Given the description of an element on the screen output the (x, y) to click on. 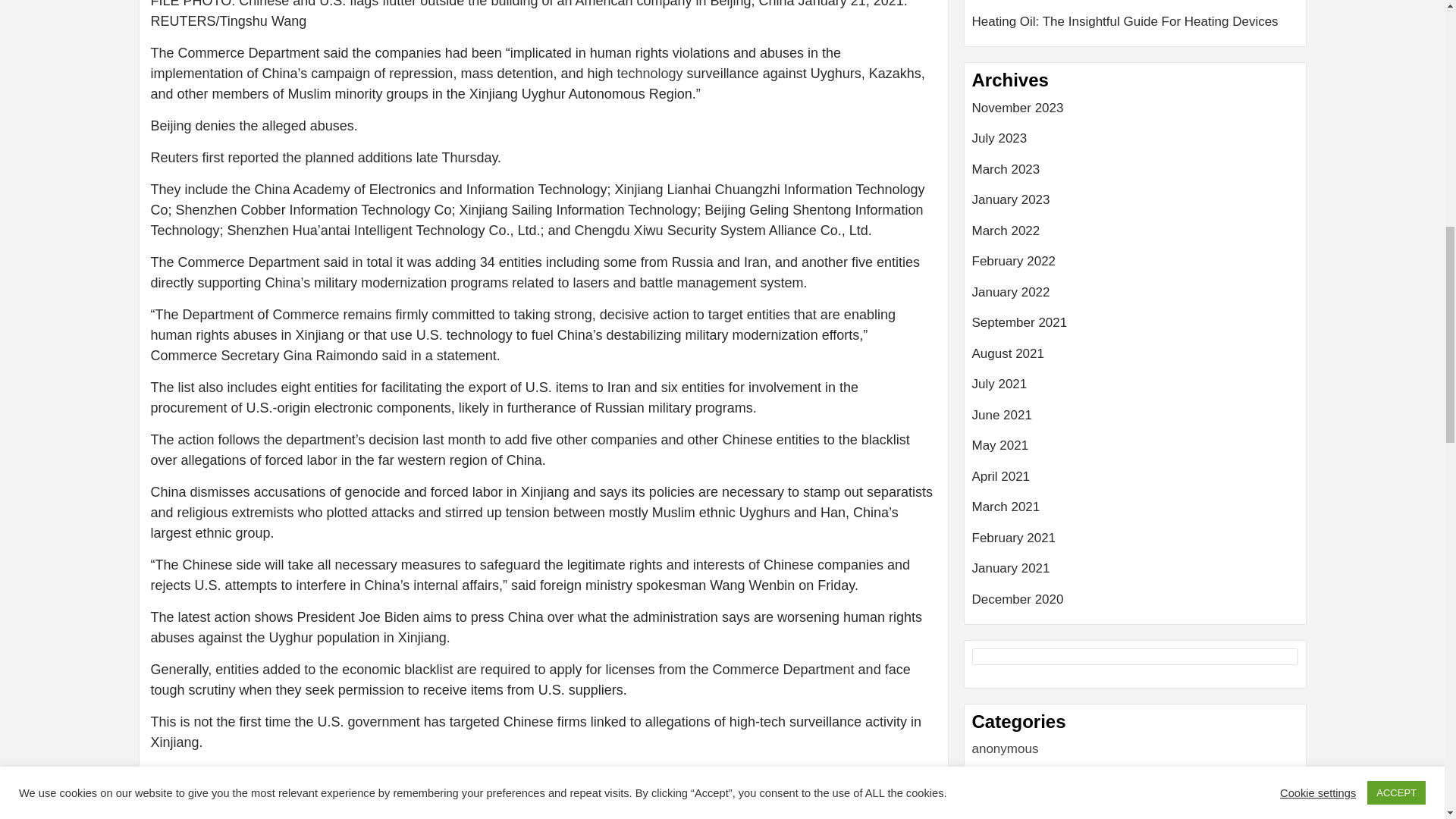
technology (649, 73)
March 2023 (1135, 174)
Heating Oil: The Insightful Guide For Heating Devices (1135, 21)
November 2023 (1135, 113)
January 2023 (1135, 205)
technology (649, 73)
July 2023 (1135, 143)
